Given the description of an element on the screen output the (x, y) to click on. 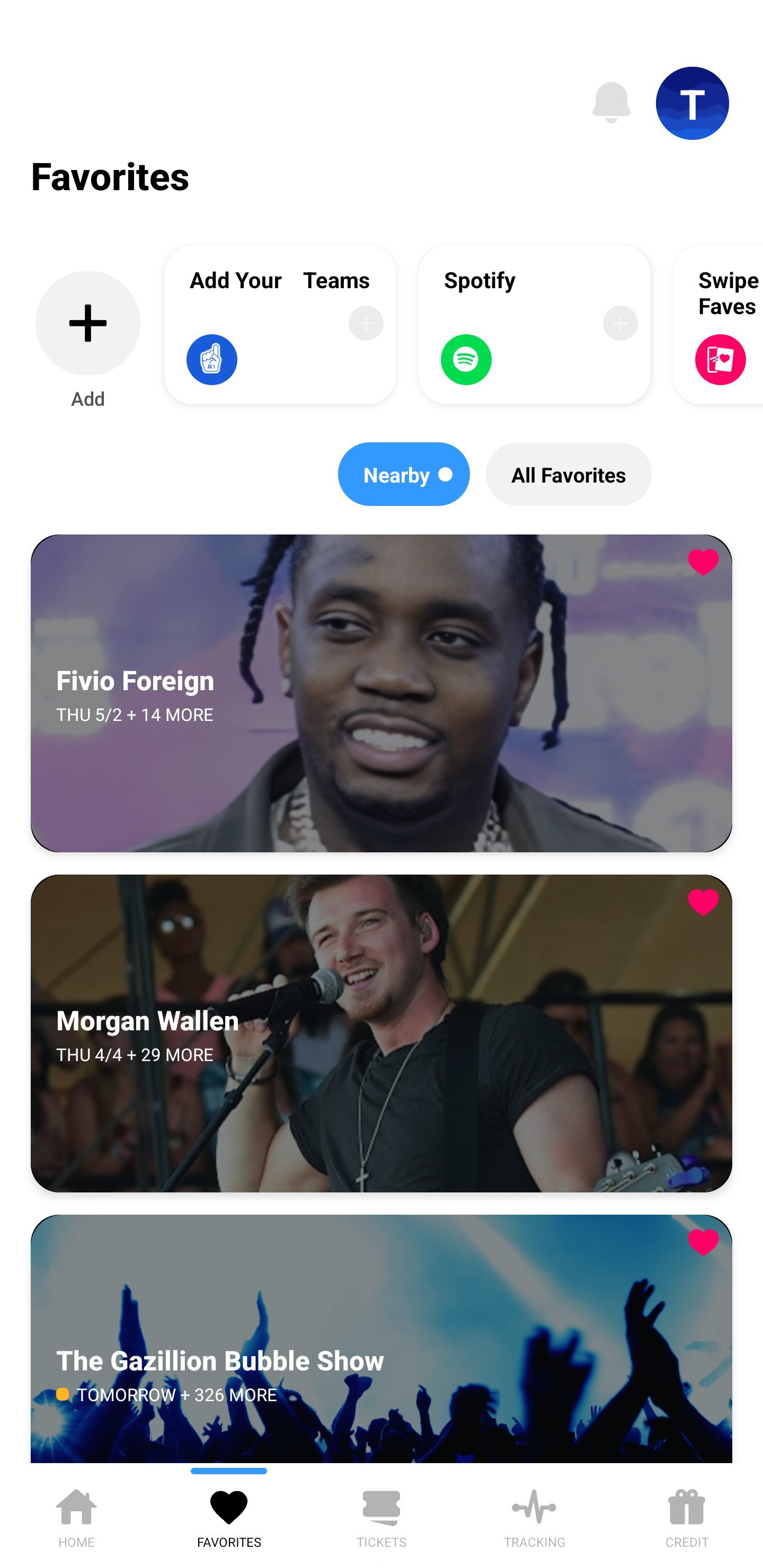
T (692, 103)
Add Your    Teams (279, 324)
Spotify (534, 324)
Add (87, 340)
Nearby (404, 474)
All Favorites (568, 474)
HOME (76, 1515)
FAVORITES (228, 1515)
TICKETS (381, 1515)
TRACKING (533, 1515)
CREDIT (686, 1515)
